Given the description of an element on the screen output the (x, y) to click on. 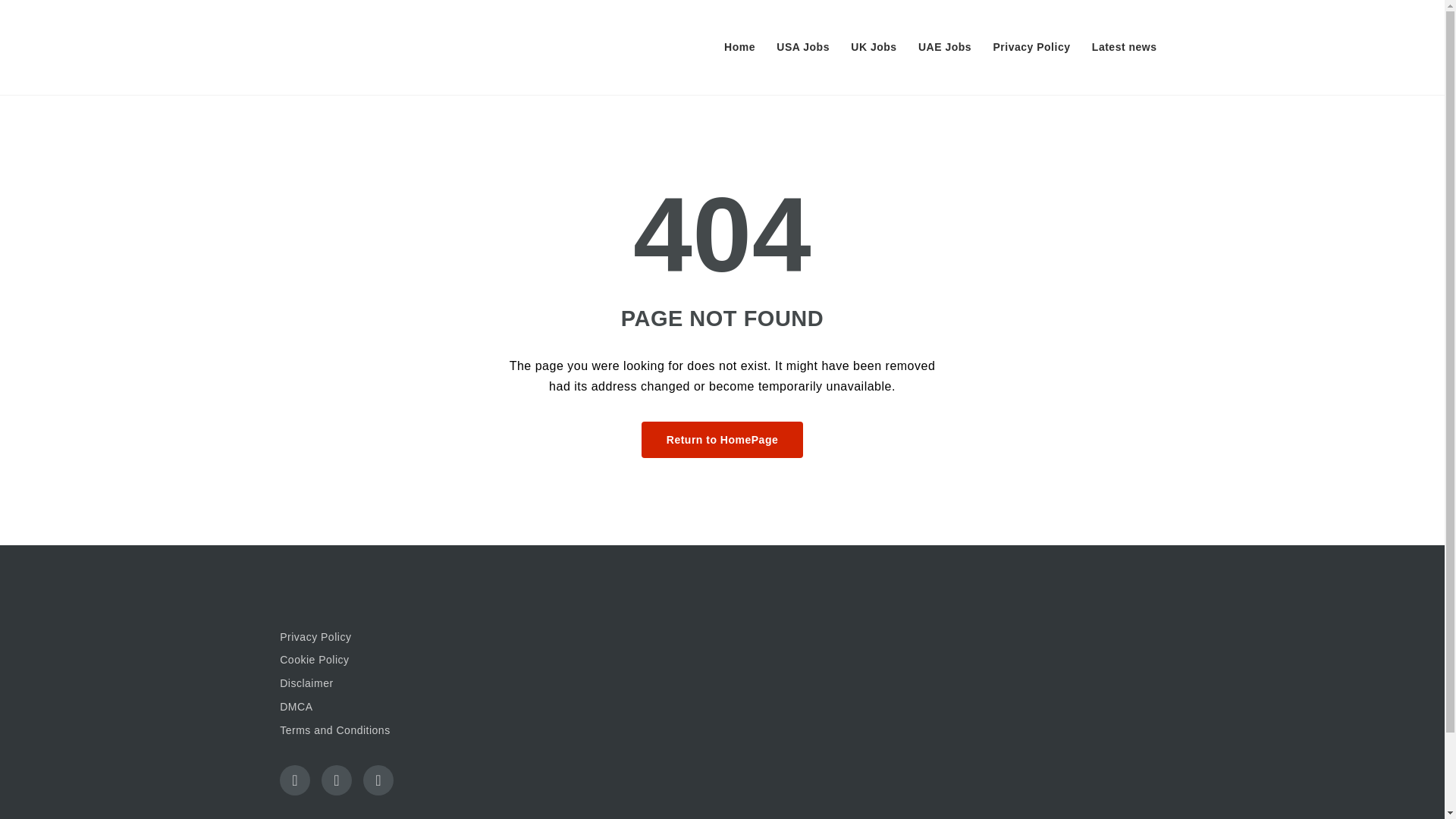
Terms and Conditions (415, 730)
Latest Jobs 2022 (354, 47)
Privacy Policy (1032, 47)
Privacy Policy (415, 637)
DMCA (415, 707)
Cookie Policy (415, 660)
Home Page (722, 439)
Return to HomePage (722, 439)
Disclaimer (415, 683)
